Given the description of an element on the screen output the (x, y) to click on. 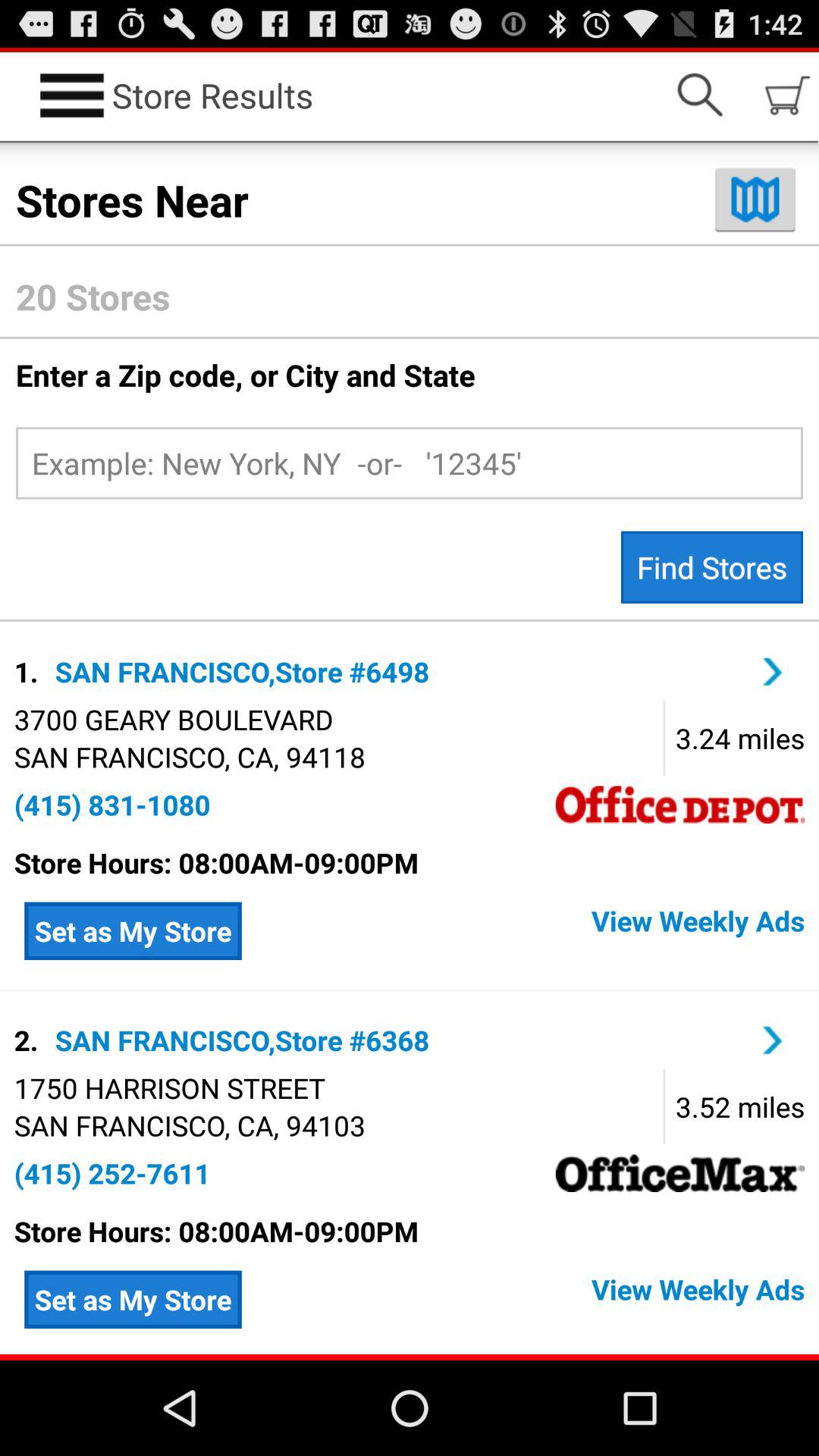
swipe to the enter a zip app (409, 374)
